Given the description of an element on the screen output the (x, y) to click on. 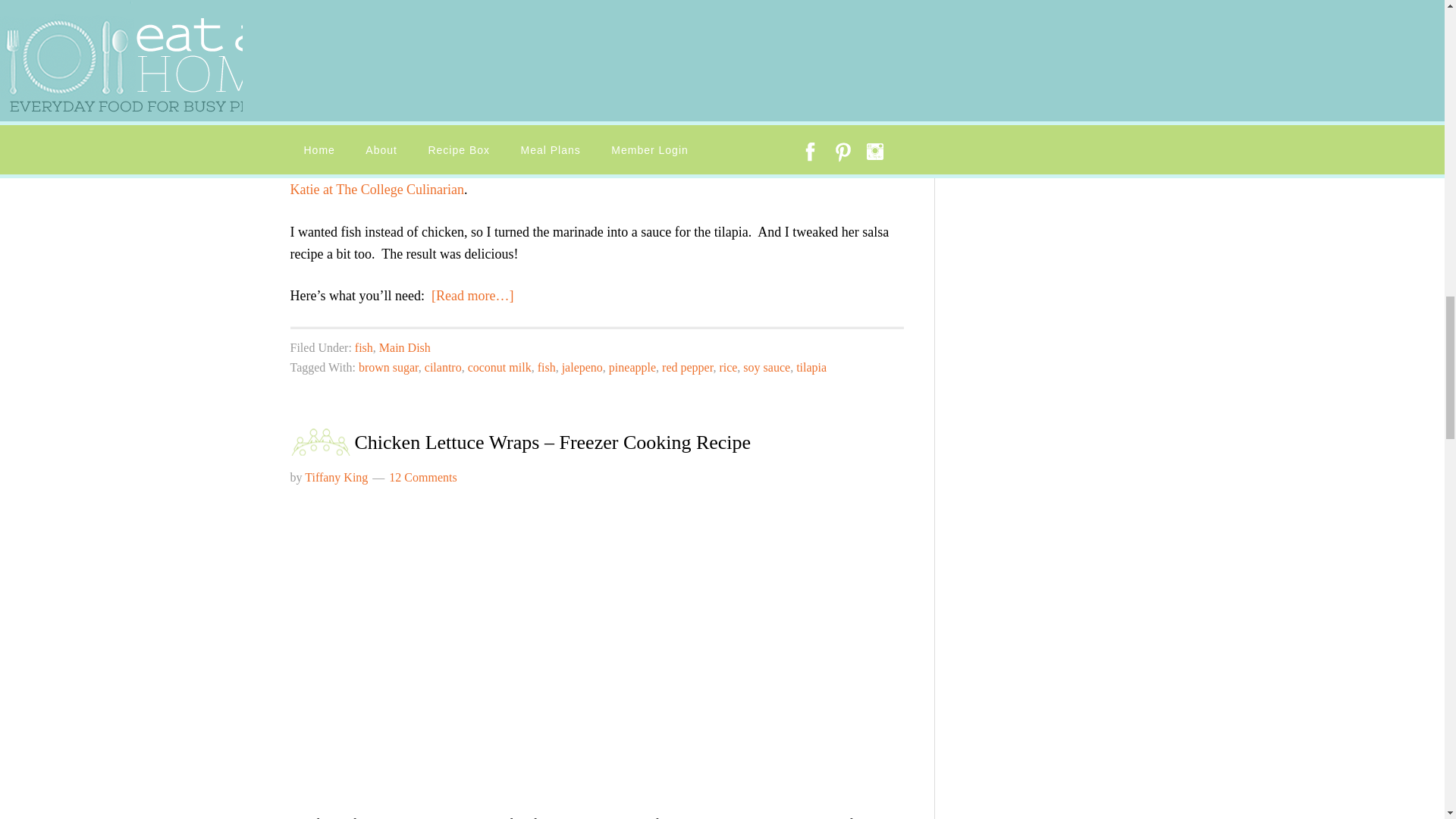
Tropical Chicken and Coconut Rice Bowl (699, 167)
chicken lettuce wraps done (497, 642)
Katie at The College Culinarian (376, 189)
